Given the description of an element on the screen output the (x, y) to click on. 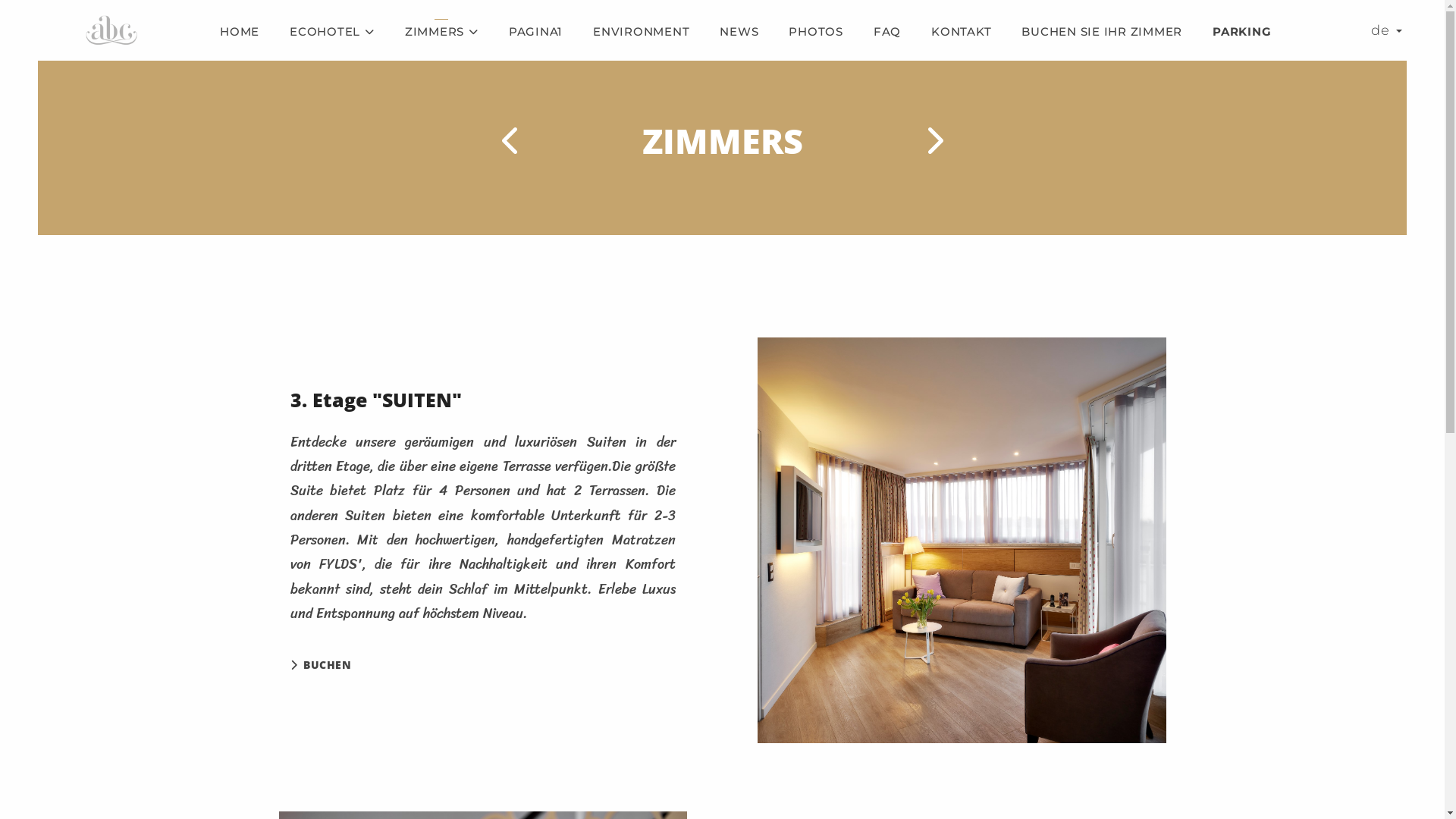
BUCHEN Element type: text (320, 664)
PAGINA1 Element type: text (535, 31)
FAQ Element type: text (886, 31)
ABC Hotel  Element type: hover (113, 30)
PARKING Element type: text (1241, 31)
NEWS Element type: text (738, 31)
PHOTOS Element type: text (815, 31)
KONTAKT Element type: text (961, 31)
ENVIRONMENT Element type: text (641, 31)
de Element type: text (1386, 30)
ECOHOTEL Element type: text (331, 31)
BUCHEN SIE IHR ZIMMER Element type: text (1101, 31)
ZIMMERS Element type: text (441, 31)
HOME Element type: text (239, 31)
